Given the description of an element on the screen output the (x, y) to click on. 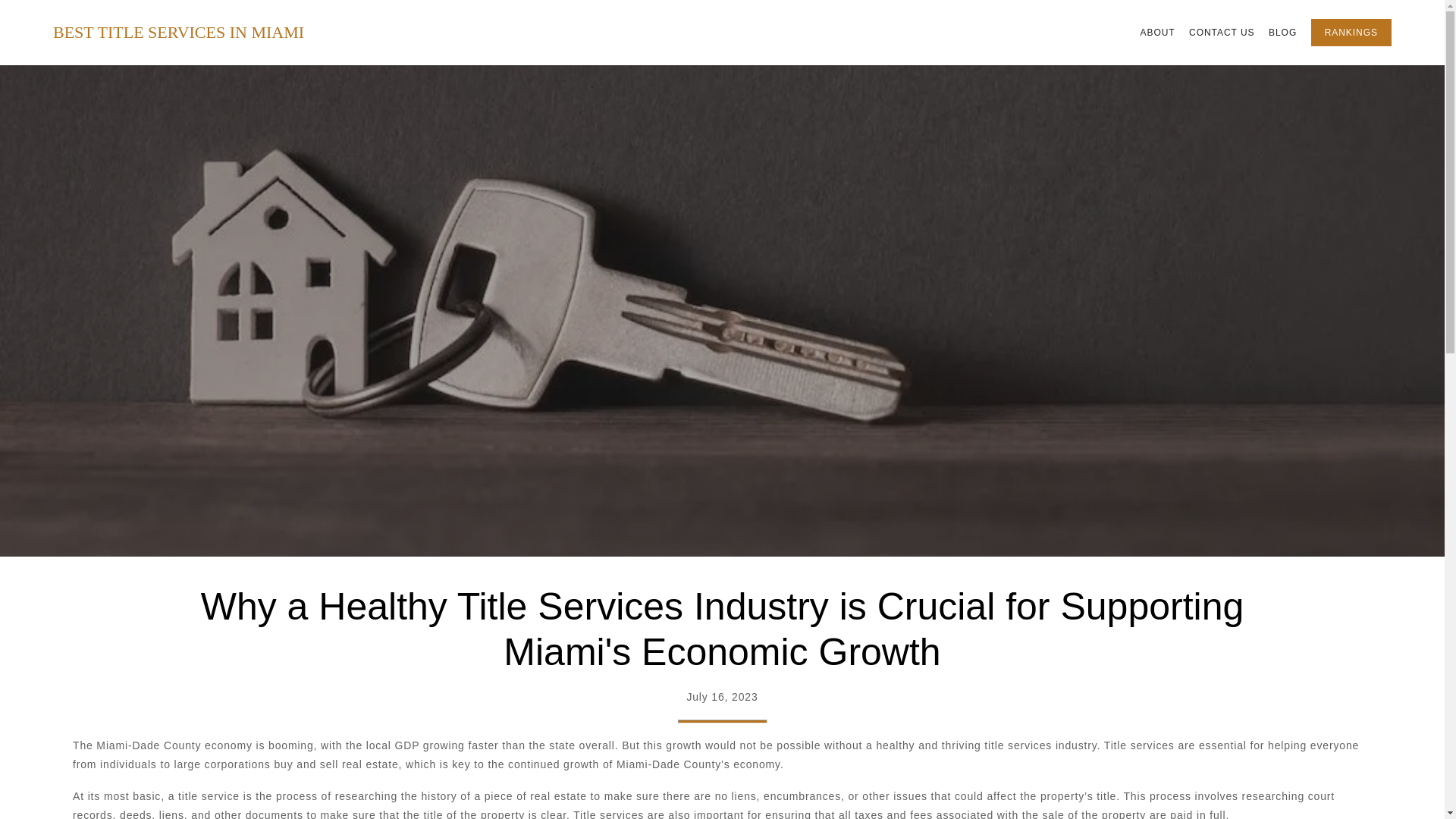
RANKINGS (1351, 31)
ABOUT (1157, 32)
BEST TITLE SERVICES IN MIAMI (178, 32)
CONTACT US (1222, 32)
BLOG (1282, 32)
